Given the description of an element on the screen output the (x, y) to click on. 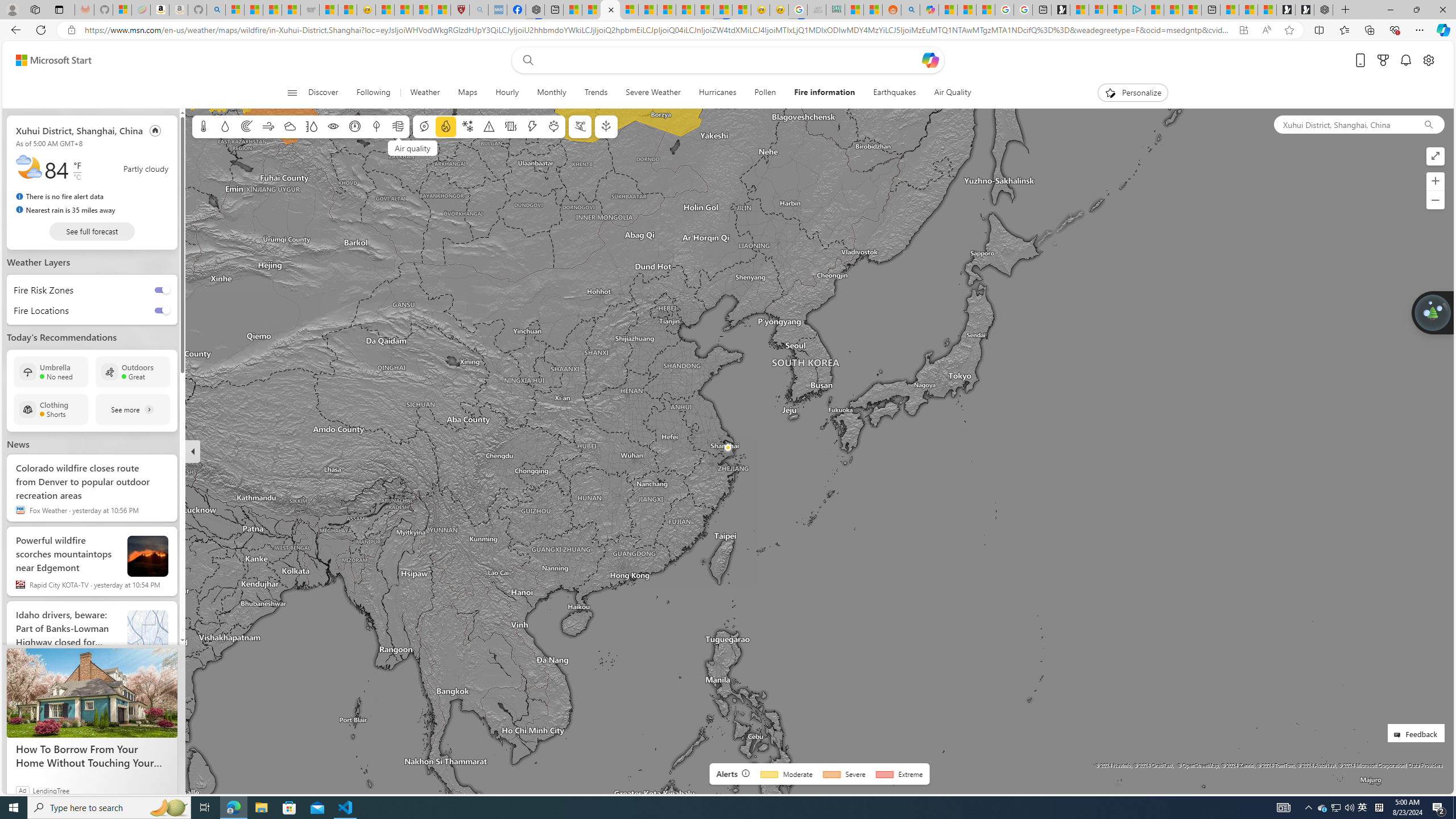
Fire Risk Zones (40, 289)
Lightning (532, 126)
Clouds (289, 126)
Set as primary location (155, 130)
